Given the description of an element on the screen output the (x, y) to click on. 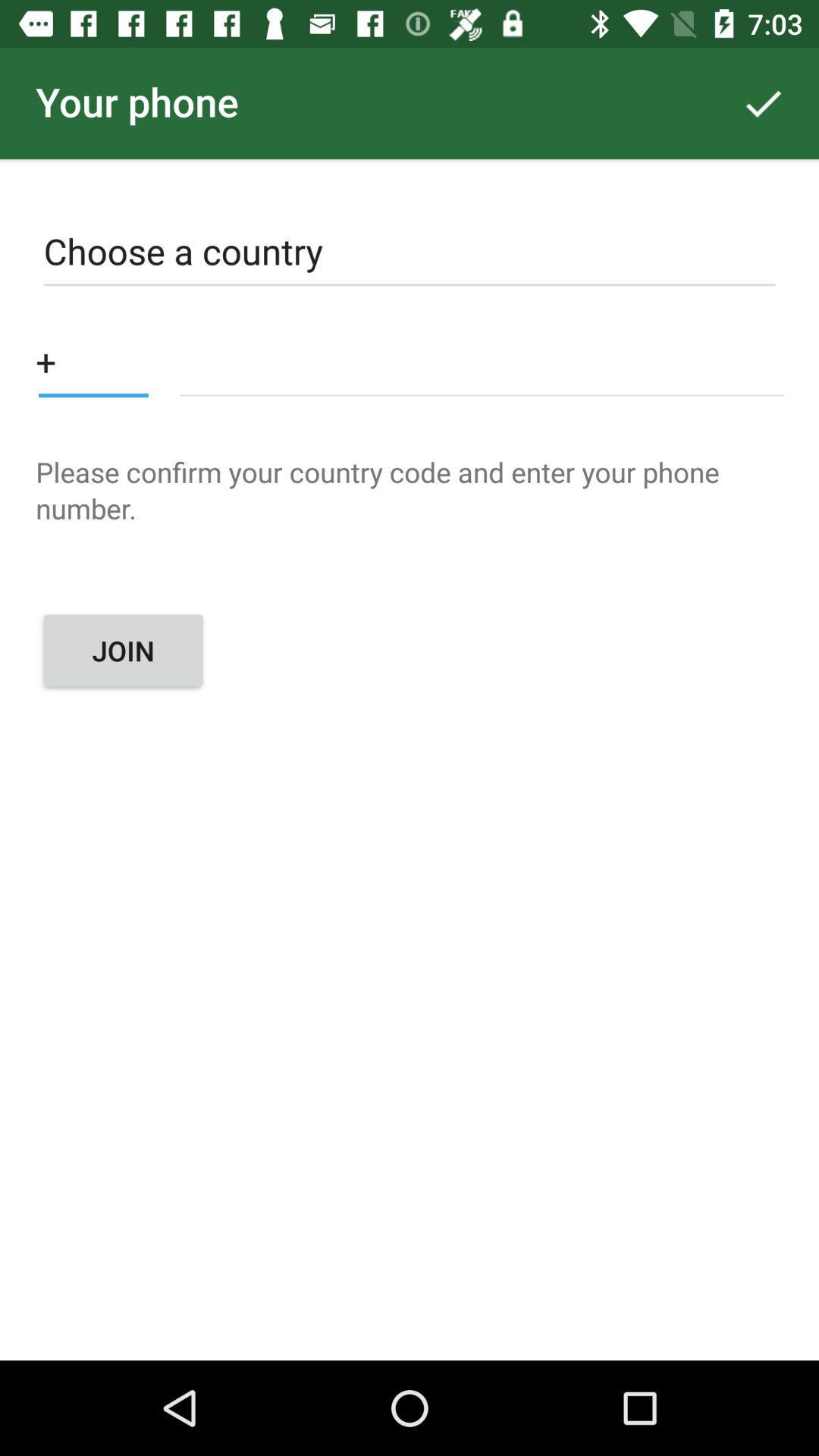
click choose a country item (409, 254)
